Given the description of an element on the screen output the (x, y) to click on. 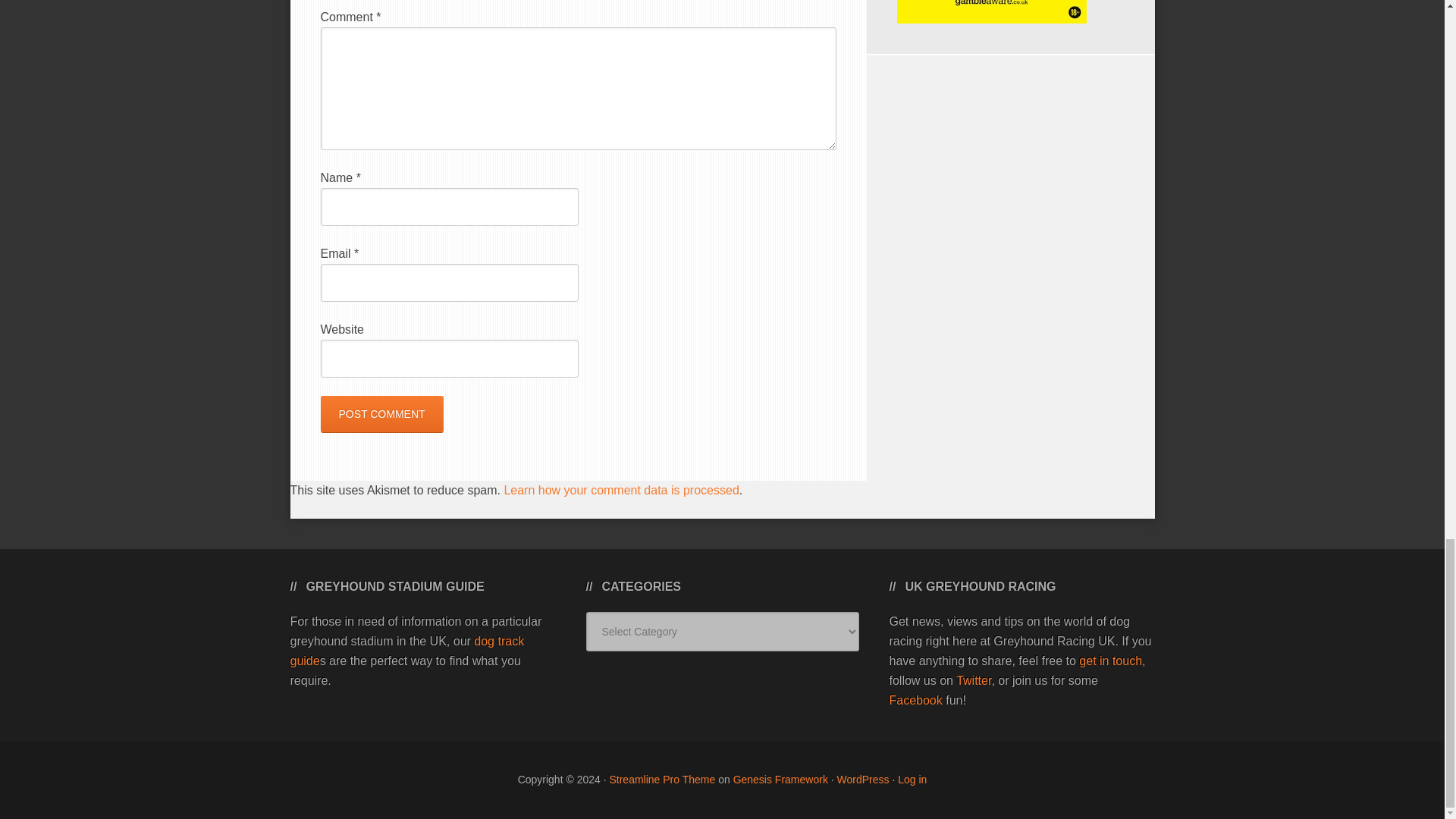
Learn how your comment data is processed (620, 490)
Post Comment (381, 413)
Post Comment (381, 413)
